Given the description of an element on the screen output the (x, y) to click on. 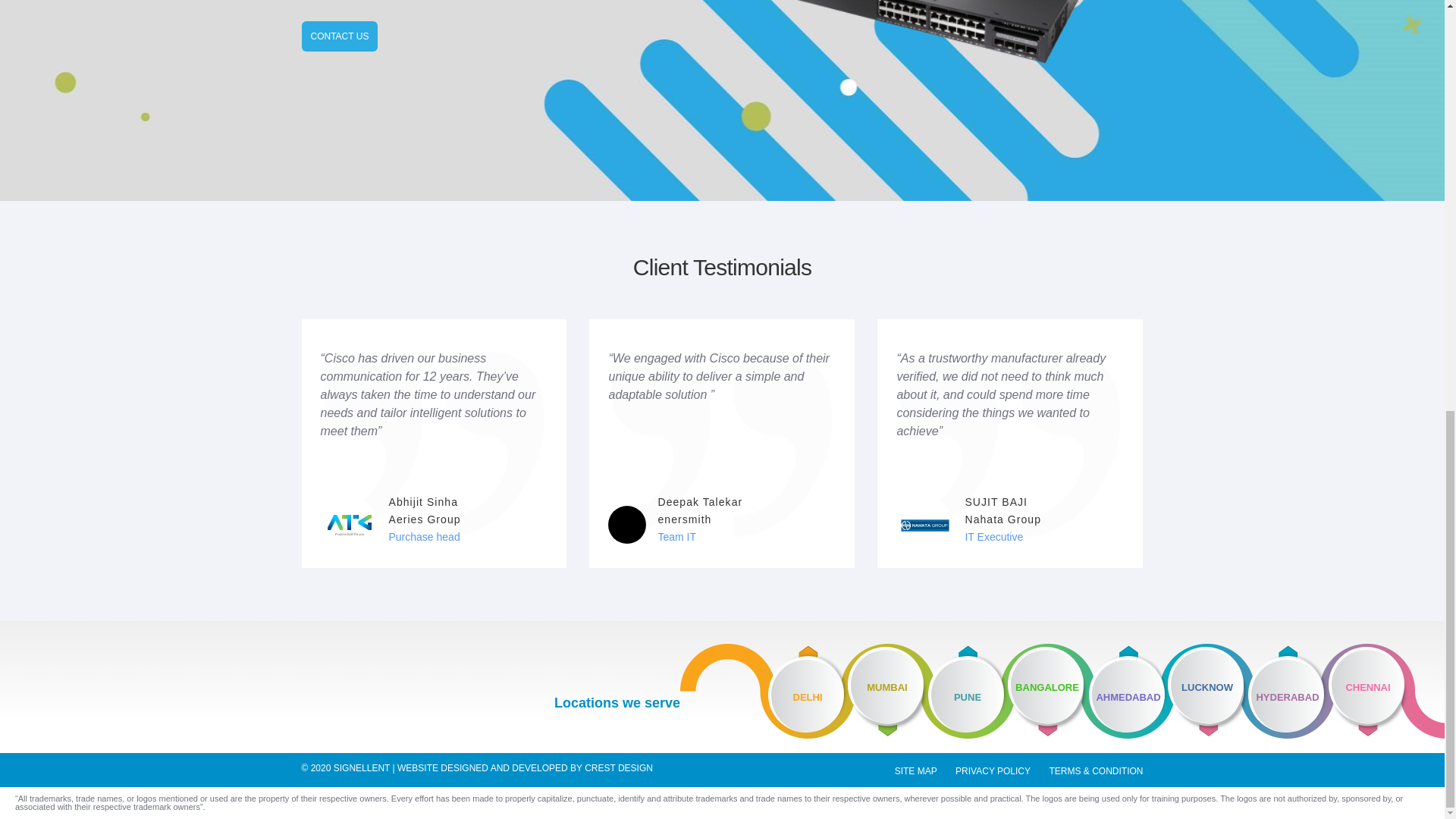
Locations we serve (616, 702)
CONTACT US (339, 36)
CHENNAI (1385, 690)
